Given the description of an element on the screen output the (x, y) to click on. 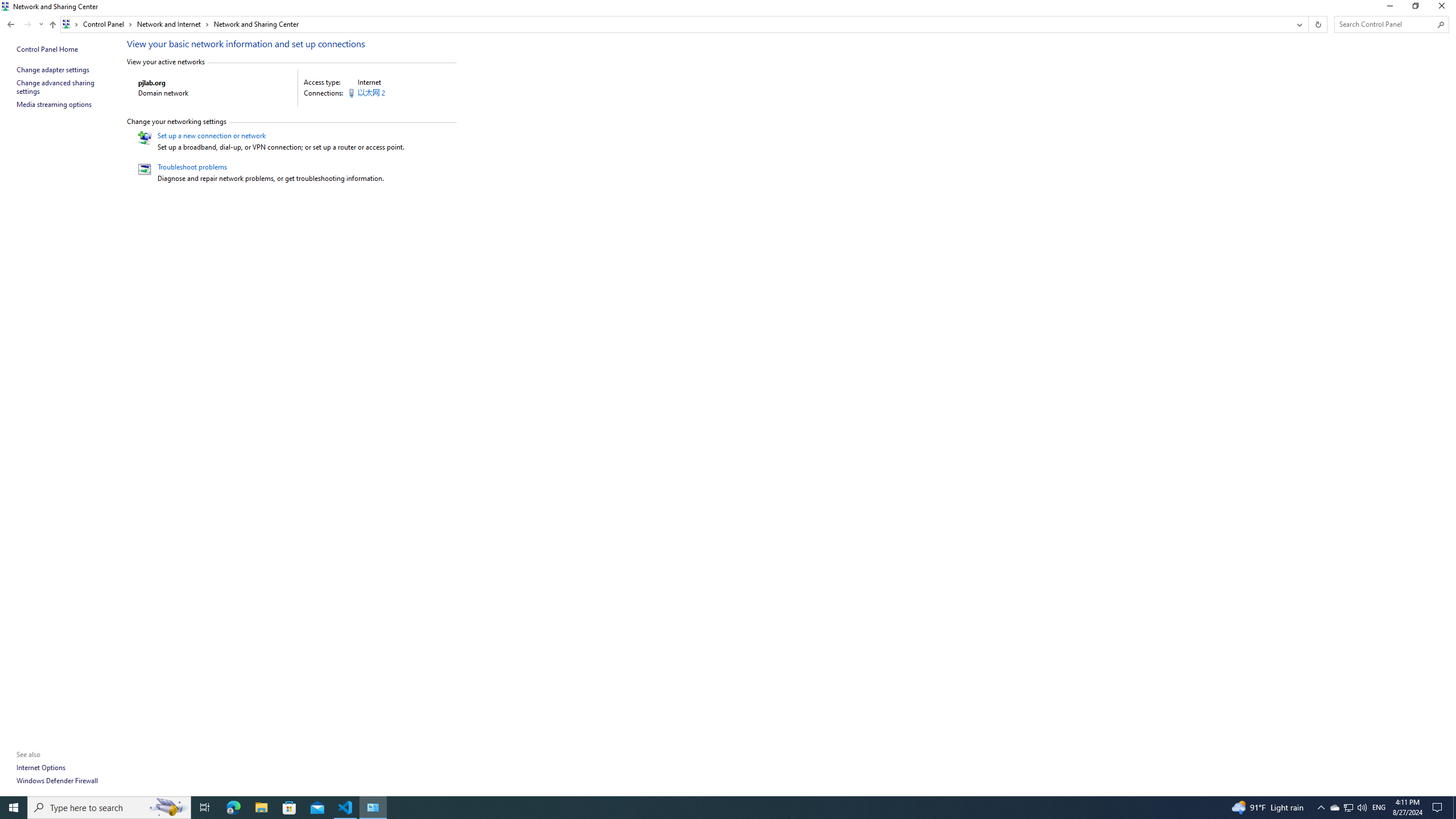
Media streaming options (54, 103)
Up to "Network and Internet" (Alt + Up Arrow) (52, 24)
System (6, 6)
Back to Network and Internet (Alt + Left Arrow) (10, 23)
Troubleshoot problems (192, 166)
Change advanced sharing settings (56, 86)
Network and Sharing Center (256, 23)
